Given the description of an element on the screen output the (x, y) to click on. 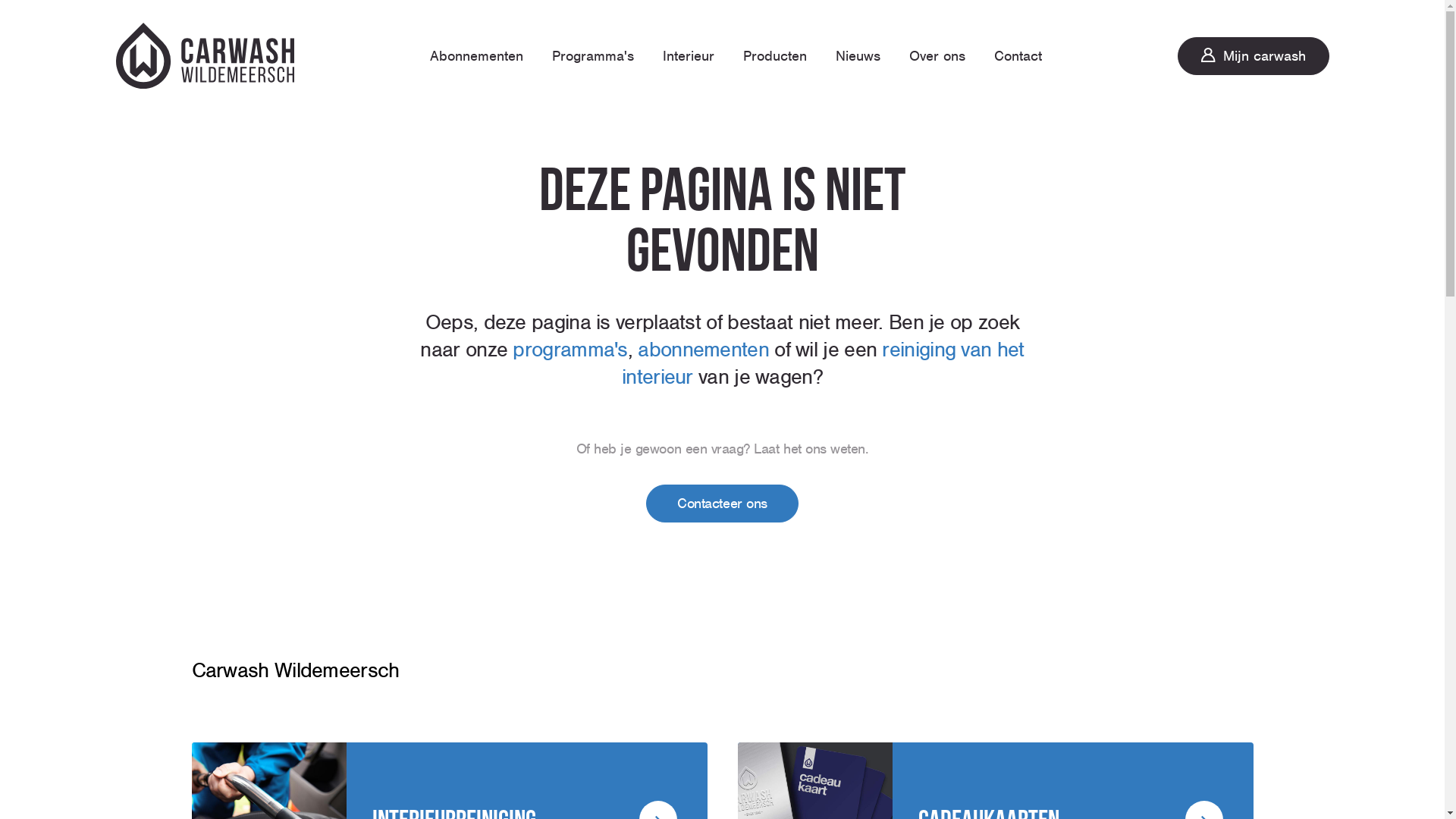
programma's Element type: text (569, 349)
Nieuws Element type: text (857, 56)
Mijn carwash Element type: text (1252, 56)
Contacteer ons Element type: text (721, 503)
Interieur Element type: text (688, 56)
Programma's Element type: text (592, 56)
Producten Element type: text (774, 56)
Contact Element type: text (1017, 56)
abonnementen Element type: text (702, 349)
Abonnementen Element type: text (475, 56)
Carwash Wildemeersch Element type: hover (204, 55)
Over ons Element type: text (936, 56)
reiniging van het interieur Element type: text (822, 363)
